Given the description of an element on the screen output the (x, y) to click on. 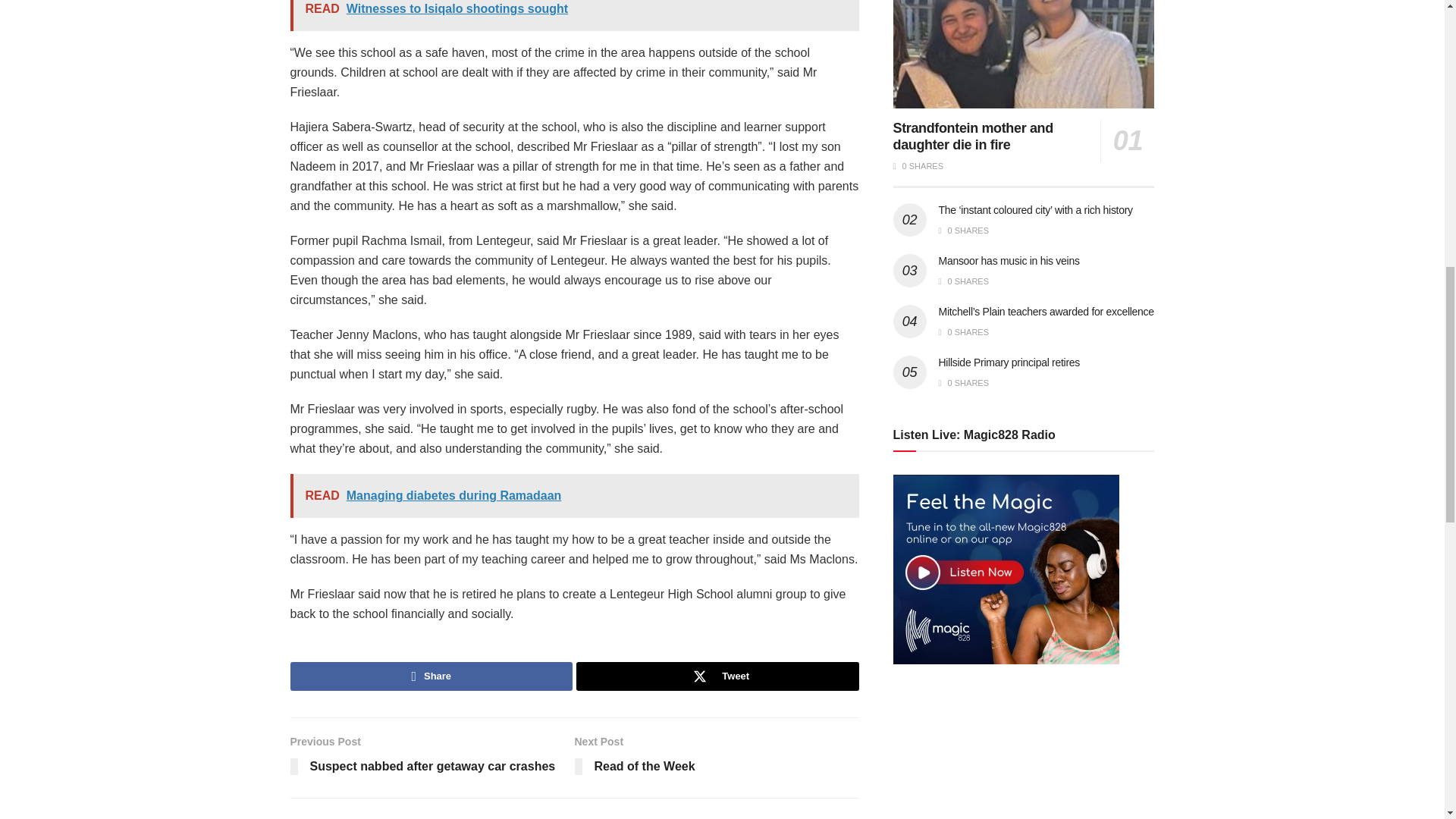
READ  Managing diabetes during Ramadaan (574, 495)
READ  Witnesses to Isiqalo shootings sought (574, 15)
3rd party ad content (1007, 756)
